Given the description of an element on the screen output the (x, y) to click on. 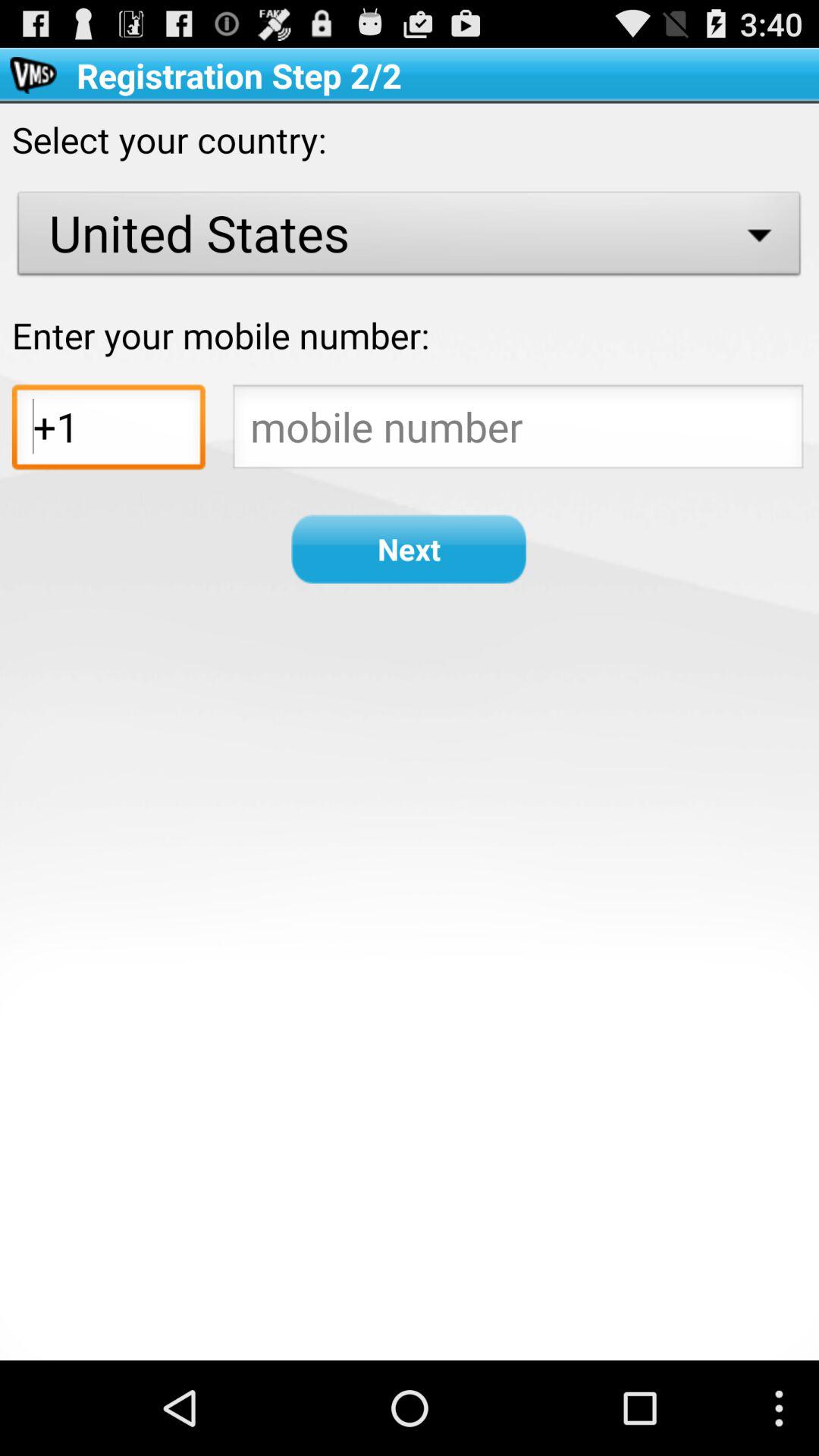
type number (518, 430)
